Given the description of an element on the screen output the (x, y) to click on. 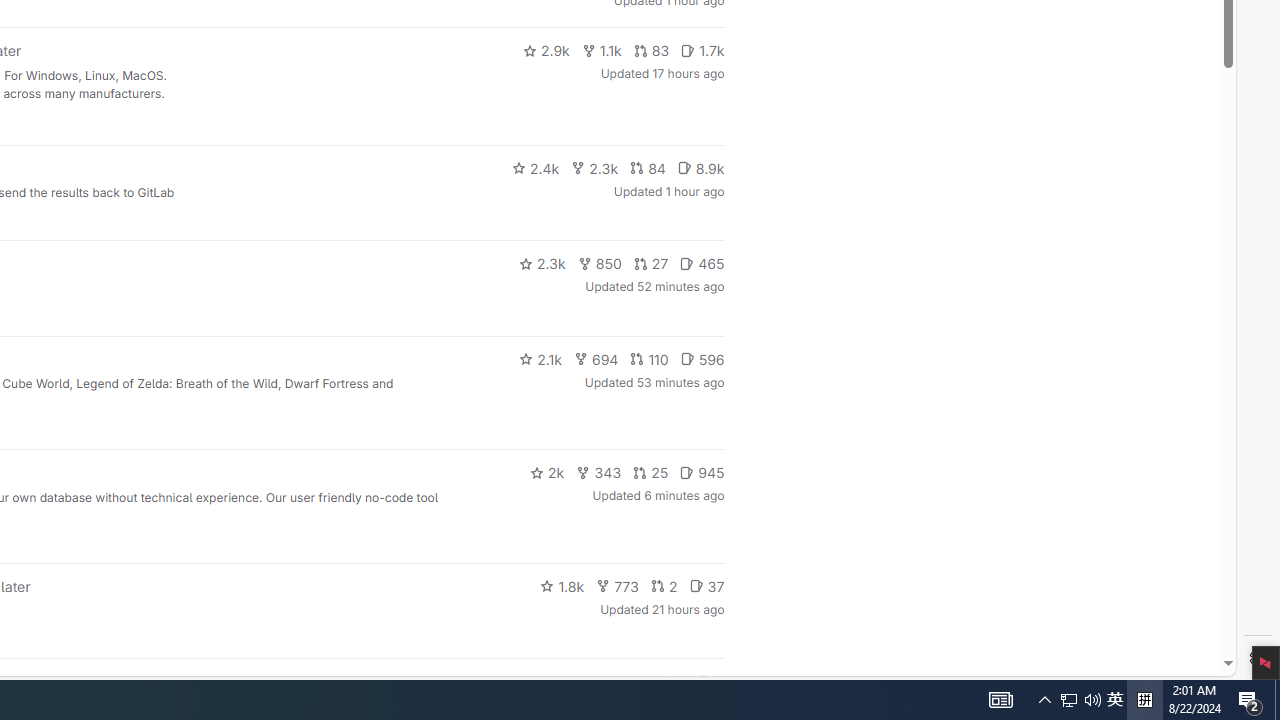
Q2790: 100% (1092, 699)
343 (599, 472)
773 (618, 585)
1.1k (1115, 699)
83 (601, 50)
694 (651, 50)
25 (596, 358)
